Given the description of an element on the screen output the (x, y) to click on. 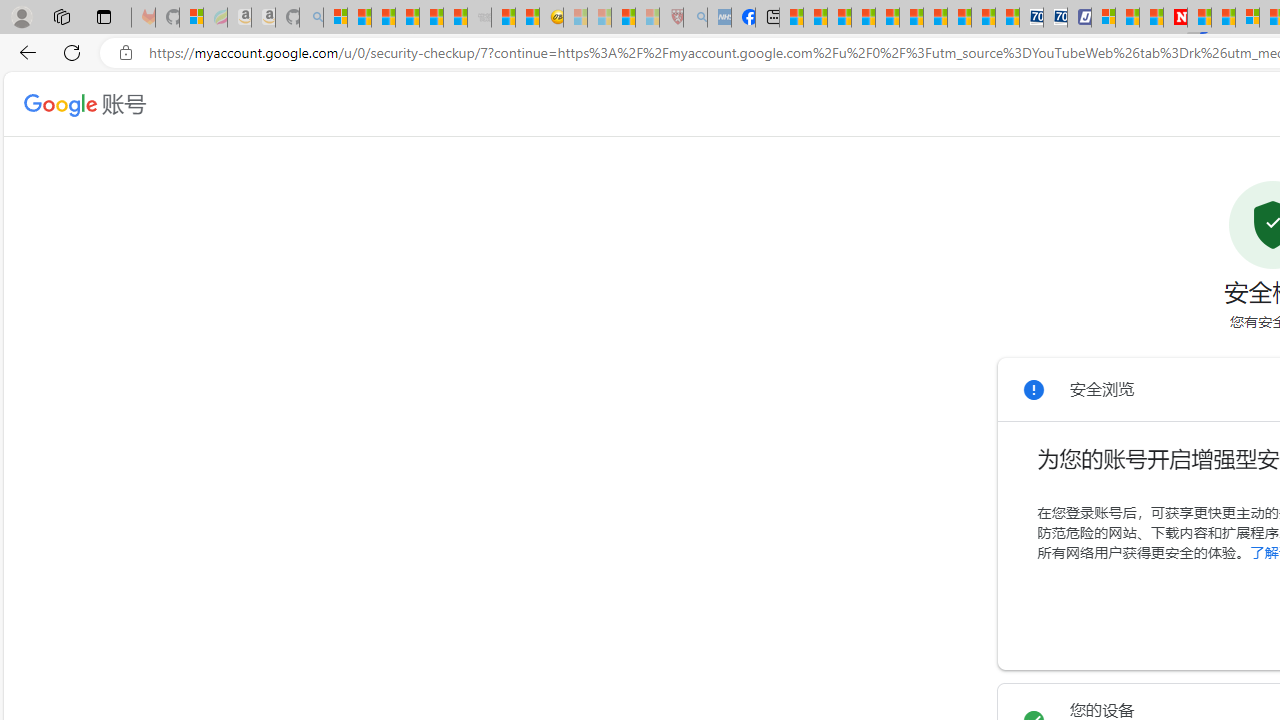
14 Common Myths Debunked By Scientific Facts (1223, 17)
The Weather Channel - MSN (383, 17)
World - MSN (839, 17)
